Given the description of an element on the screen output the (x, y) to click on. 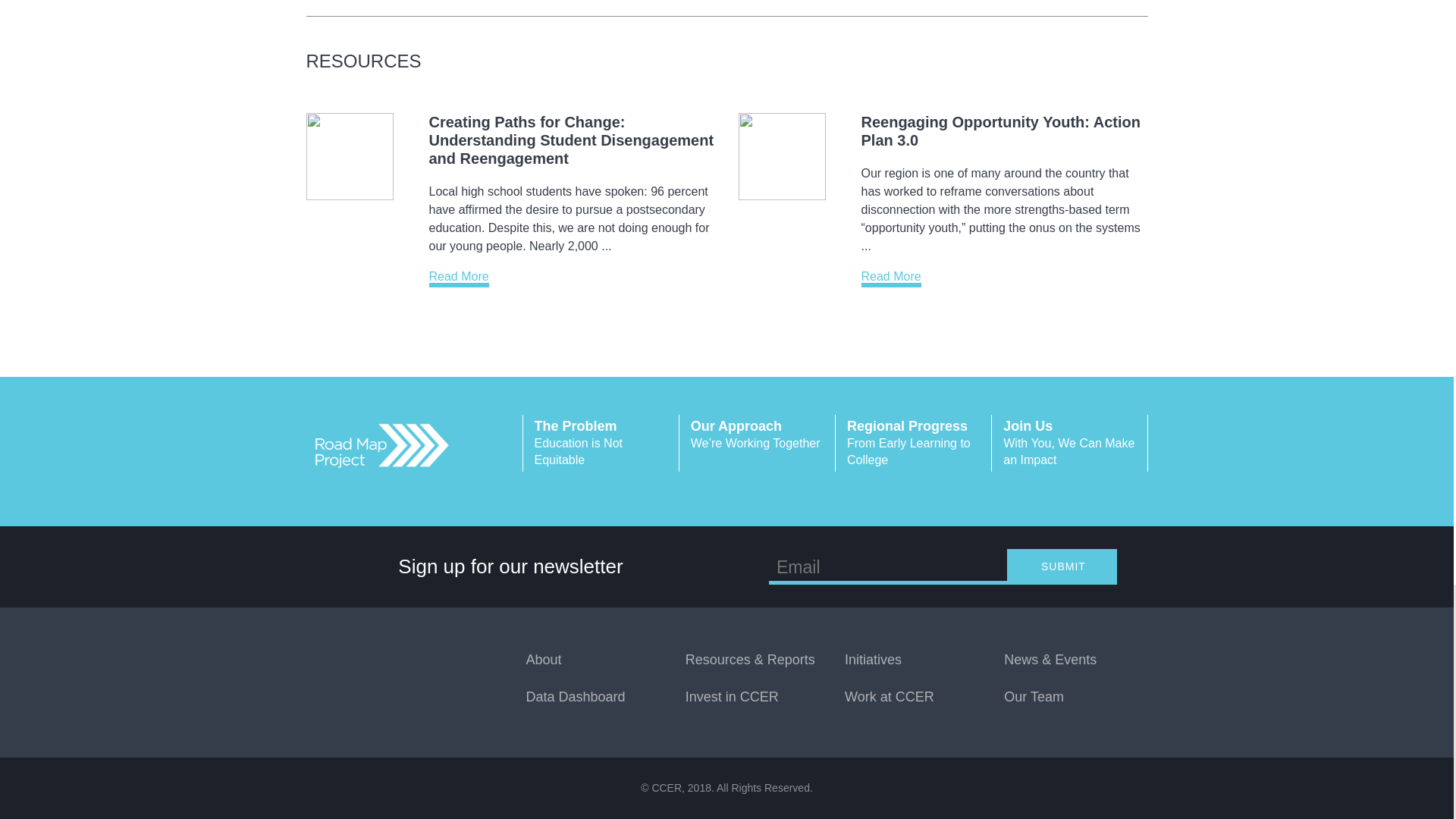
Read More (1069, 442)
Read More (459, 278)
Reengaging Opportunity Youth: Action Plan 3.0 (891, 278)
SUBMIT (1001, 130)
